Given the description of an element on the screen output the (x, y) to click on. 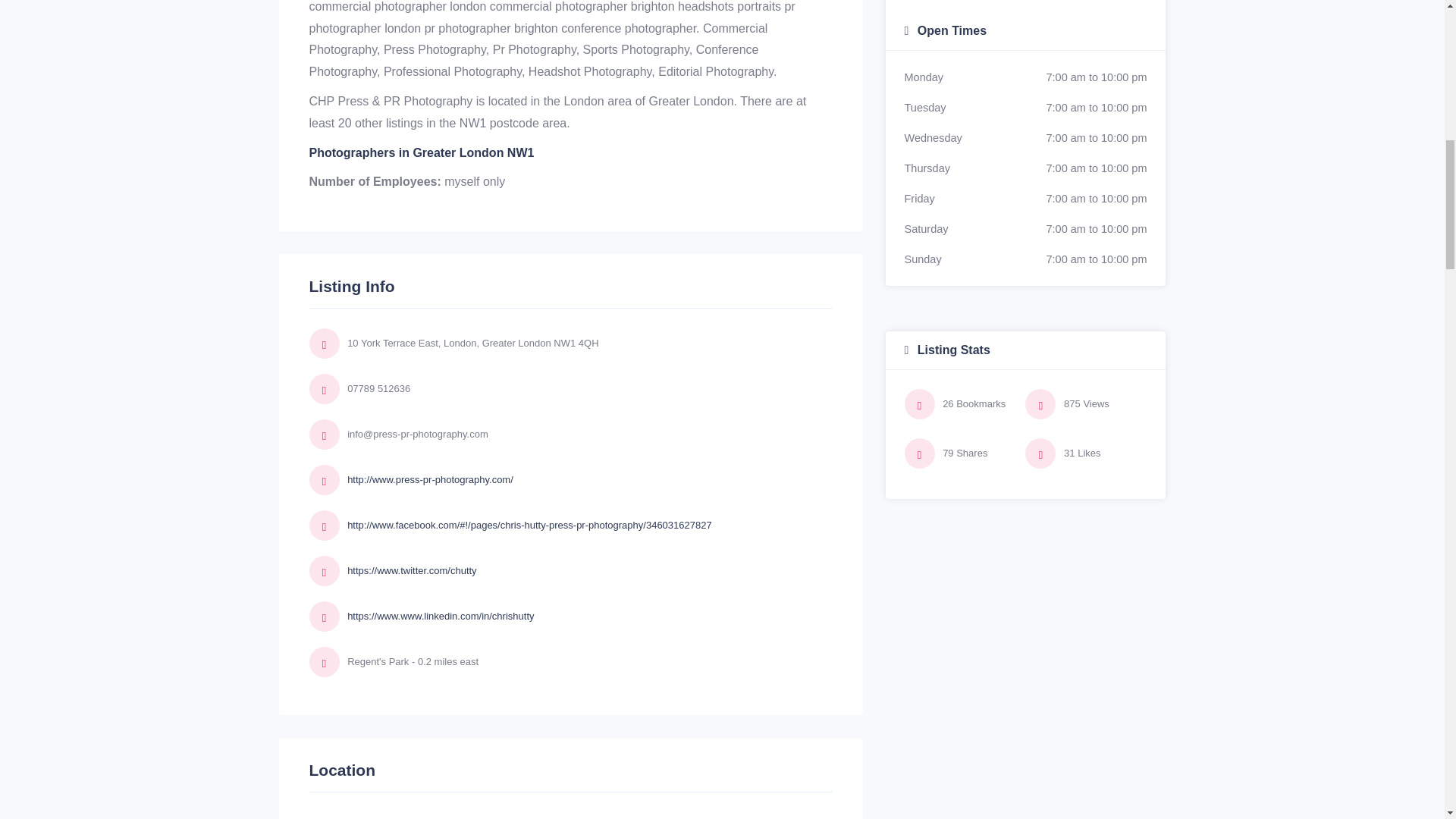
Advertisement (1025, 2)
Photographers in Greater London NW1 (421, 152)
